Given the description of an element on the screen output the (x, y) to click on. 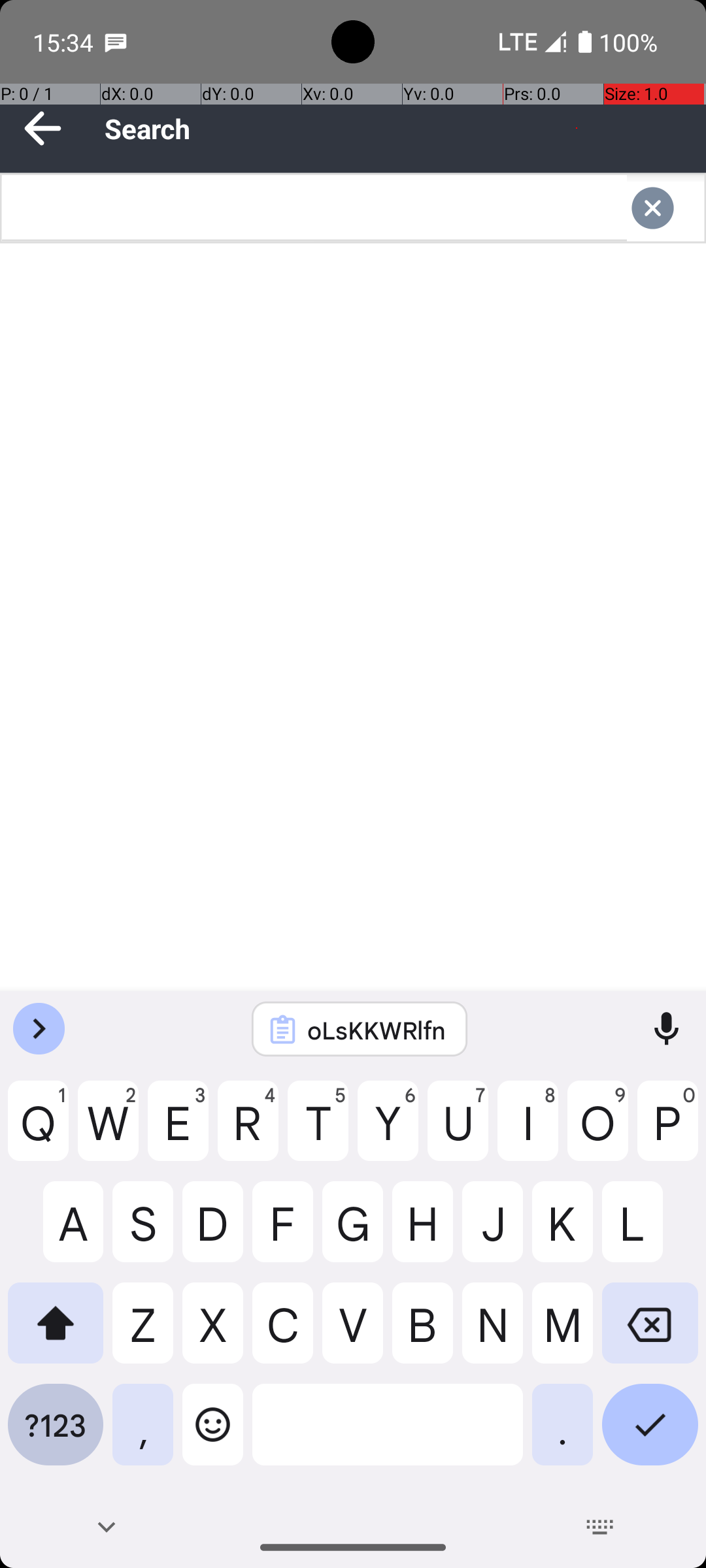
 Element type: android.widget.TextView (665, 207)
oLsKKWRlfn Element type: android.widget.TextView (376, 1029)
